Given the description of an element on the screen output the (x, y) to click on. 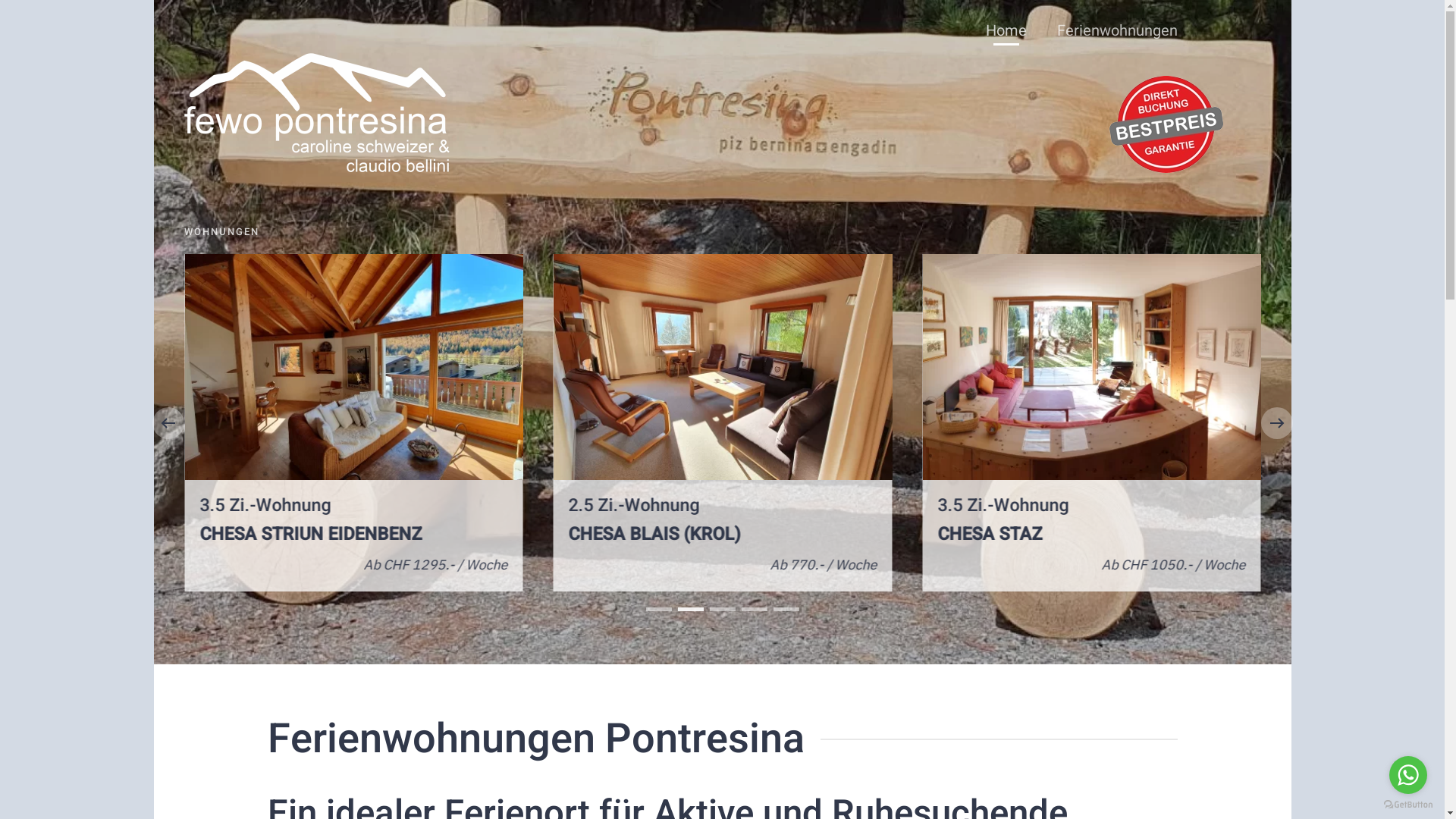
3.5 Zi.-Wohnung
CHESA STRIUN EIDENBENZ
Ab CHF 1295.- / Woche Element type: text (352, 422)
3.5 Zi.-Wohnung
CHESA STAZ
Ab CHF 1050.- / Woche Element type: text (1091, 422)
Home Element type: text (1005, 30)
2.5 Zi.-Wohnung
CHESA BLAIS (KROL)
Ab 770.- / Woche Element type: text (721, 422)
Ferienwohnungen Element type: text (1117, 30)
